Given the description of an element on the screen output the (x, y) to click on. 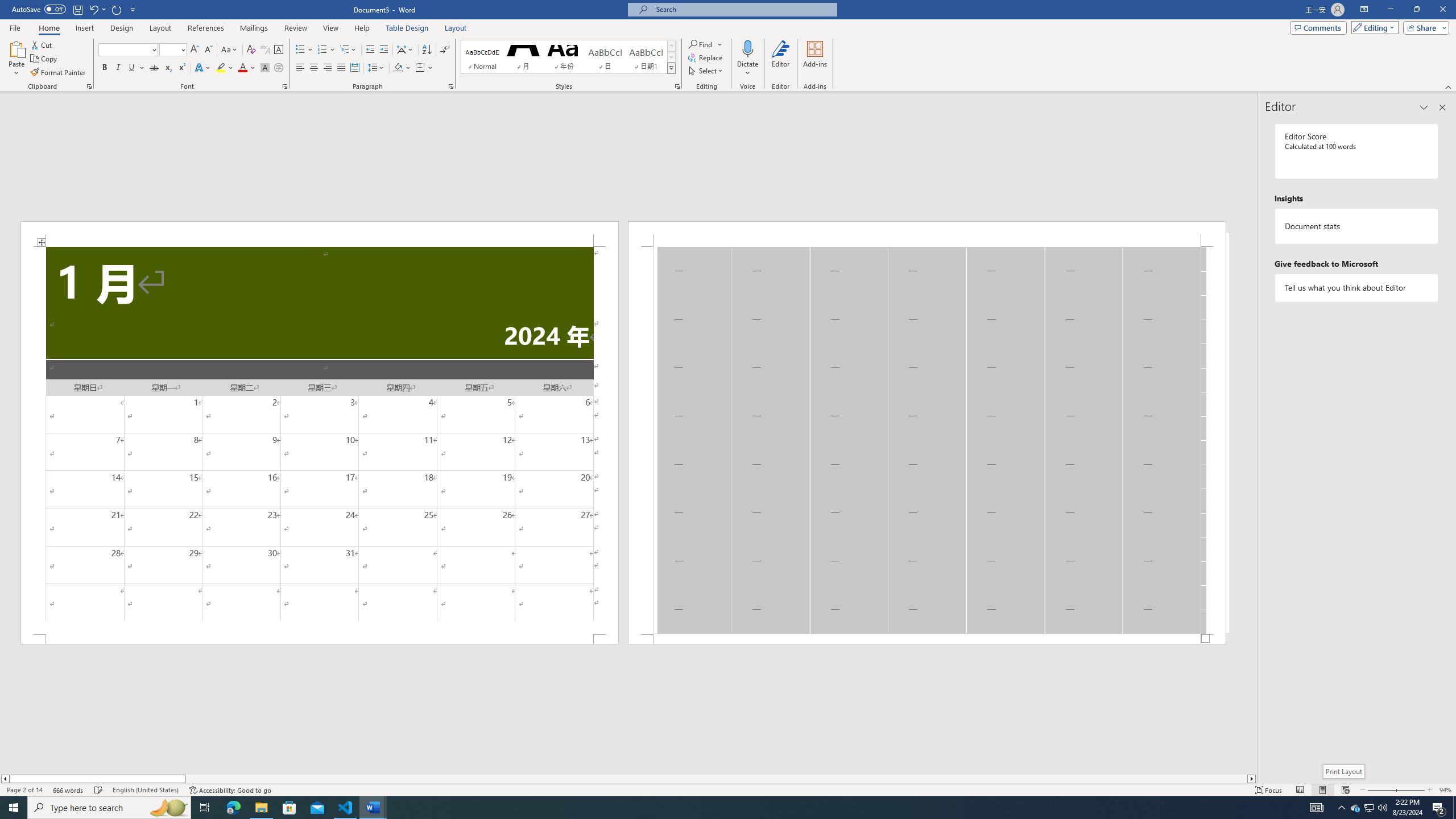
Change Case (229, 49)
Font... (285, 85)
Grow Font (193, 49)
Column left (5, 778)
Page right (716, 778)
Page 1 content (319, 439)
Distributed (354, 67)
